Given the description of an element on the screen output the (x, y) to click on. 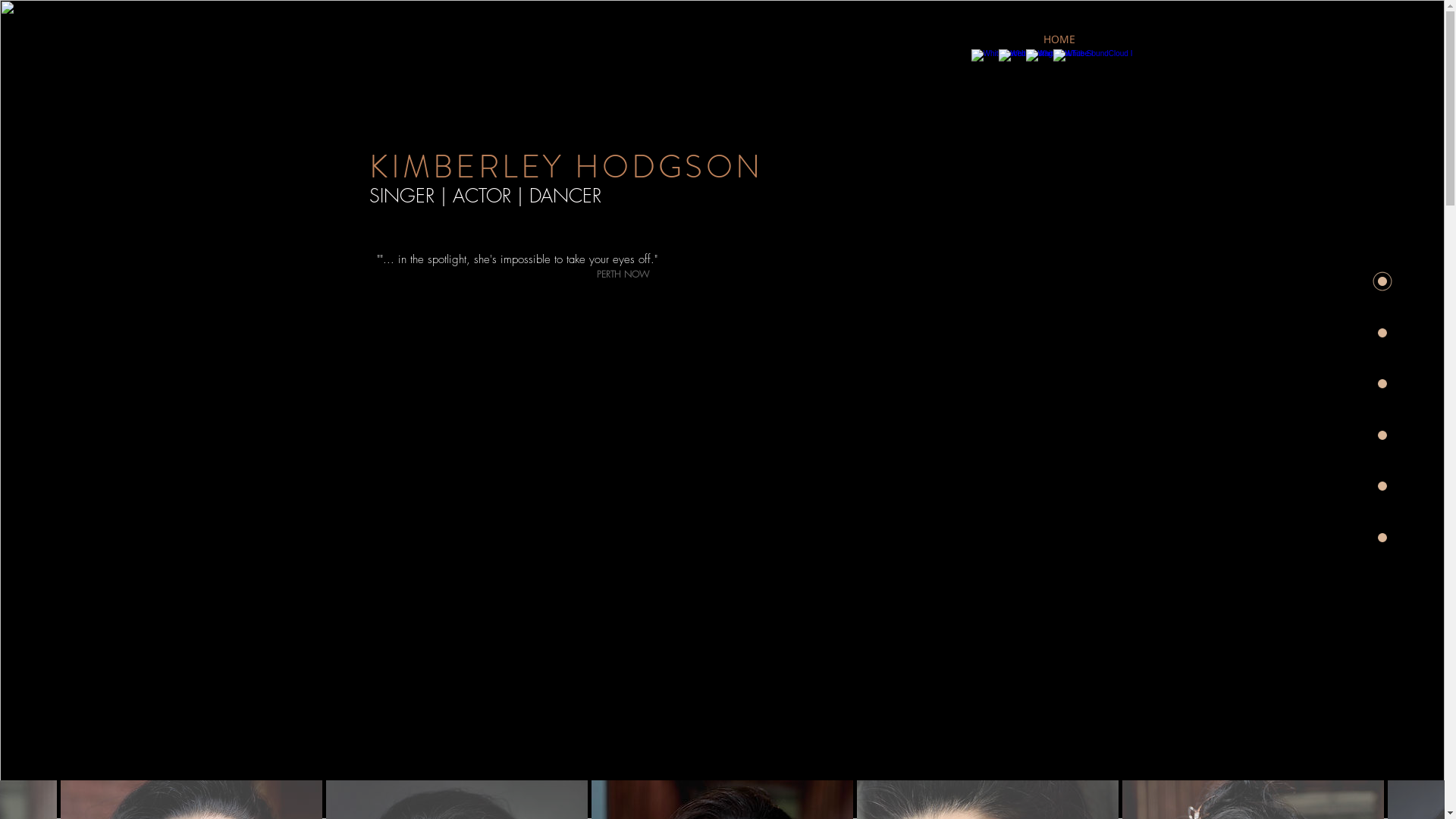
SINGER | ACTOR | DANCER Element type: text (484, 195)
HOME Element type: text (1058, 38)
KIMBERLEY HODGSON Element type: text (565, 166)
